Given the description of an element on the screen output the (x, y) to click on. 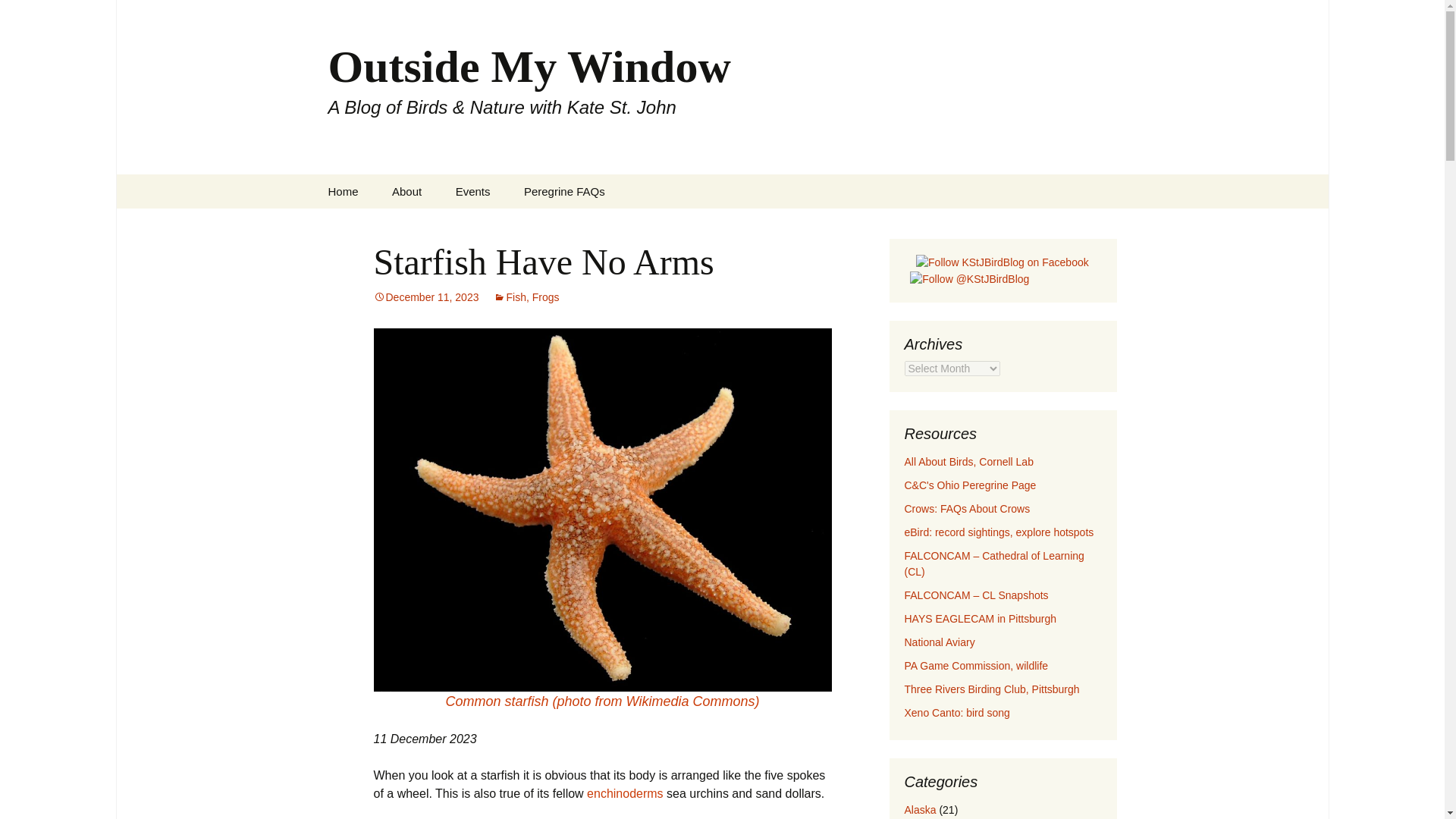
PGC wildlife link (976, 665)
Home (342, 191)
FAQs About Crows from Corvid Research blog (966, 508)
Peregrine FAQs (564, 191)
enchinoderms (624, 793)
About (406, 191)
Three Rivers Birding Club, Pittsburgh (991, 689)
Permalink to Starfish Have No Arms (425, 297)
Fish, Frogs (526, 297)
Search (18, 15)
